Given the description of an element on the screen output the (x, y) to click on. 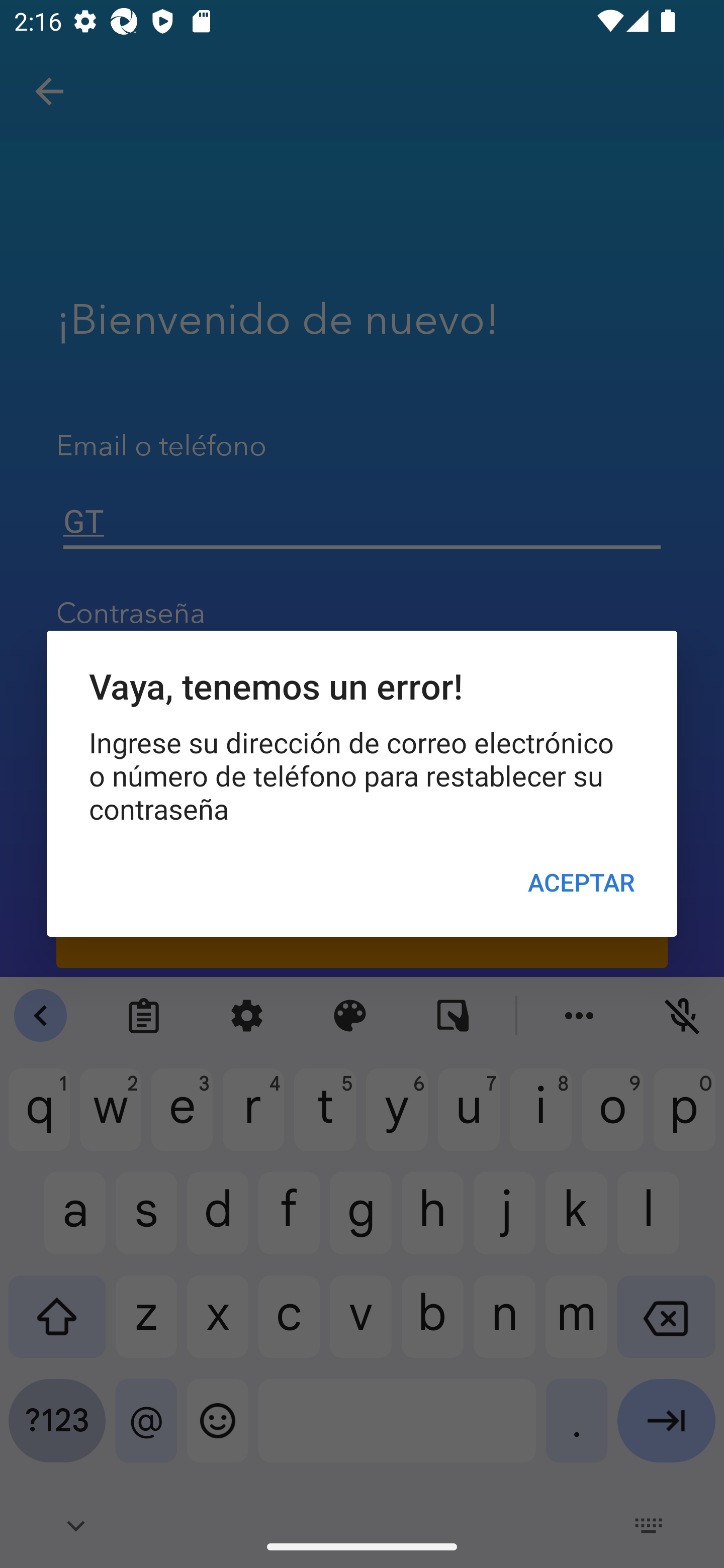
ACEPTAR (580, 881)
